Given the description of an element on the screen output the (x, y) to click on. 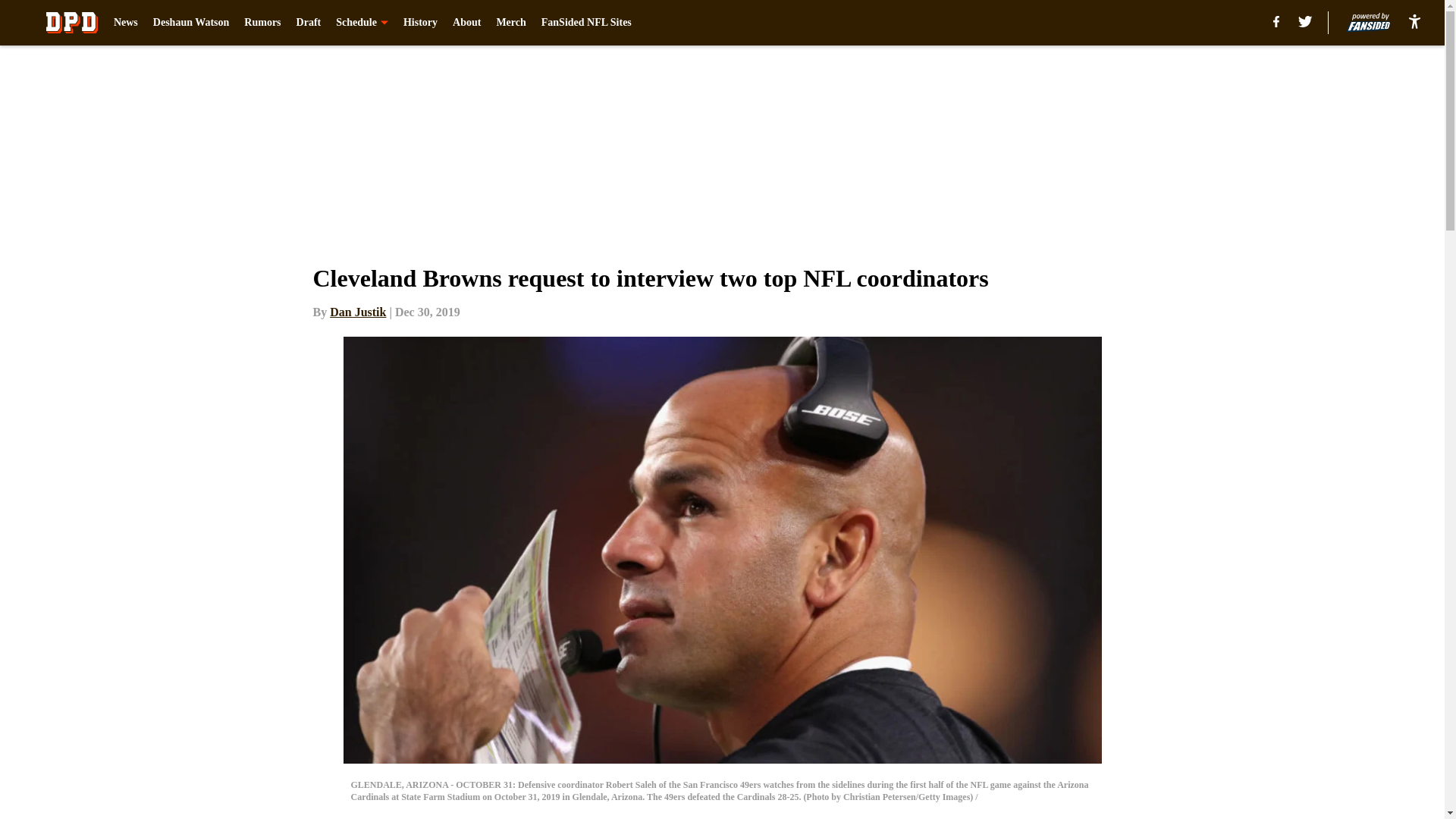
News (125, 22)
FanSided NFL Sites (586, 22)
Rumors (262, 22)
Draft (309, 22)
Merch (510, 22)
About (466, 22)
Deshaun Watson (191, 22)
History (420, 22)
Dan Justik (357, 311)
